Given the description of an element on the screen output the (x, y) to click on. 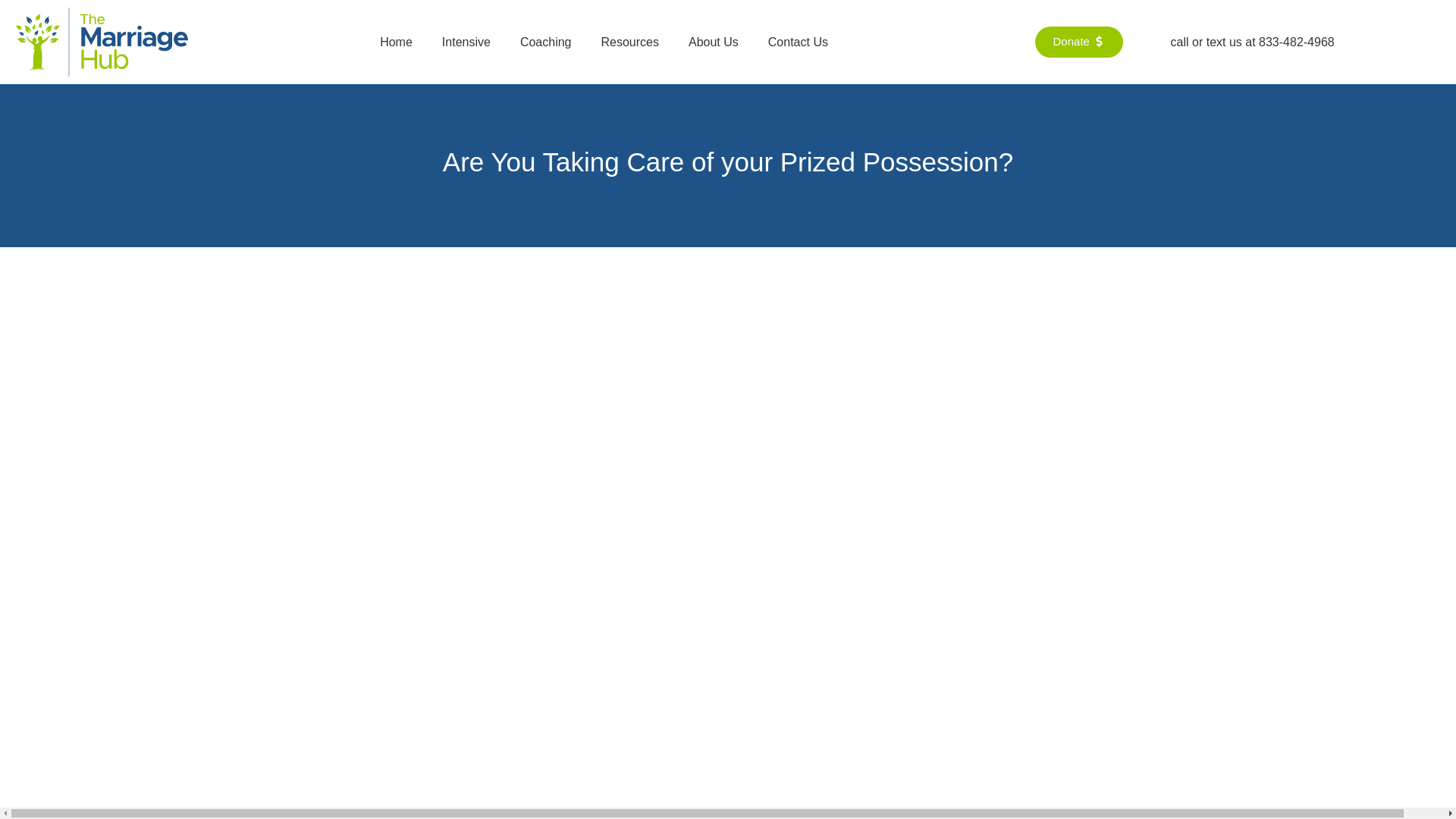
Donate (1078, 41)
Contact Us (797, 42)
Home (396, 42)
About Us (713, 42)
Resources (628, 42)
Coaching (545, 42)
Intensive (465, 42)
